Given the description of an element on the screen output the (x, y) to click on. 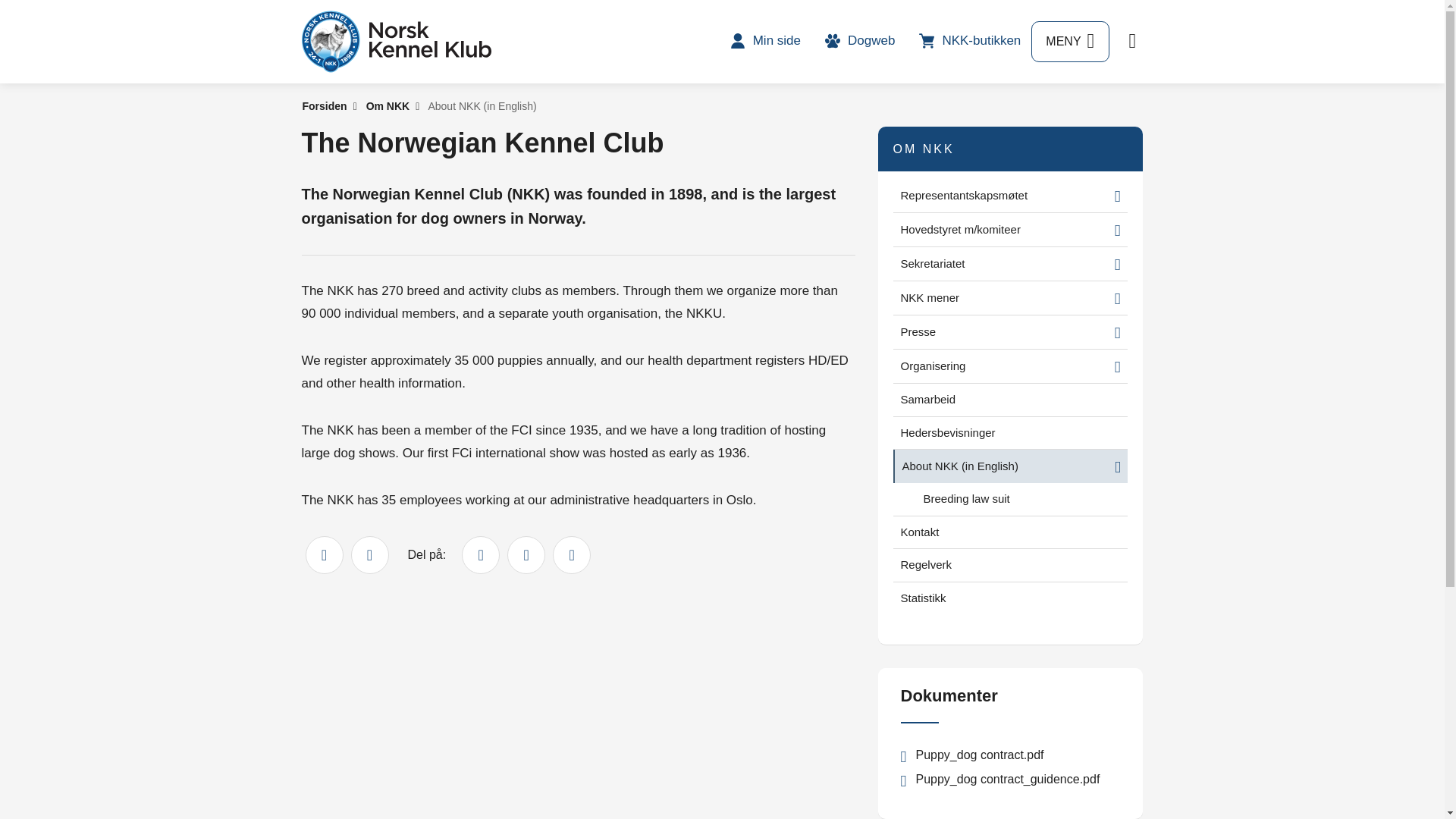
OM NKK (924, 148)
NKK-butikken (969, 40)
Skriv ut (323, 555)
Min side (764, 40)
Tips en venn (369, 555)
Forsiden (323, 105)
Om NKK (388, 105)
Dogweb (859, 40)
MENY (1069, 42)
